Given the description of an element on the screen output the (x, y) to click on. 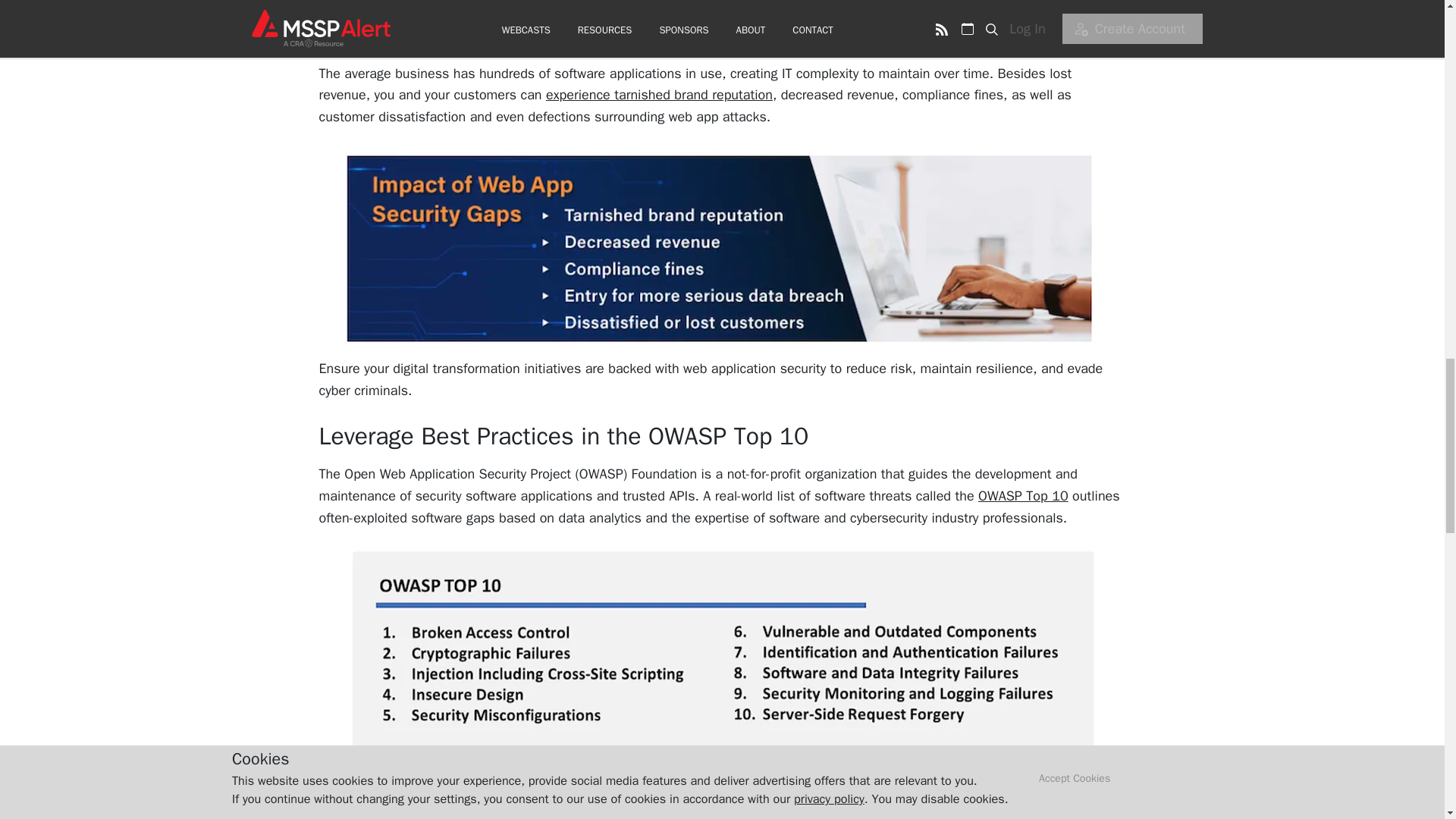
vulnerability management (490, 792)
OWASP Top 10 (1023, 495)
experience tarnished brand reputation (659, 94)
